Given the description of an element on the screen output the (x, y) to click on. 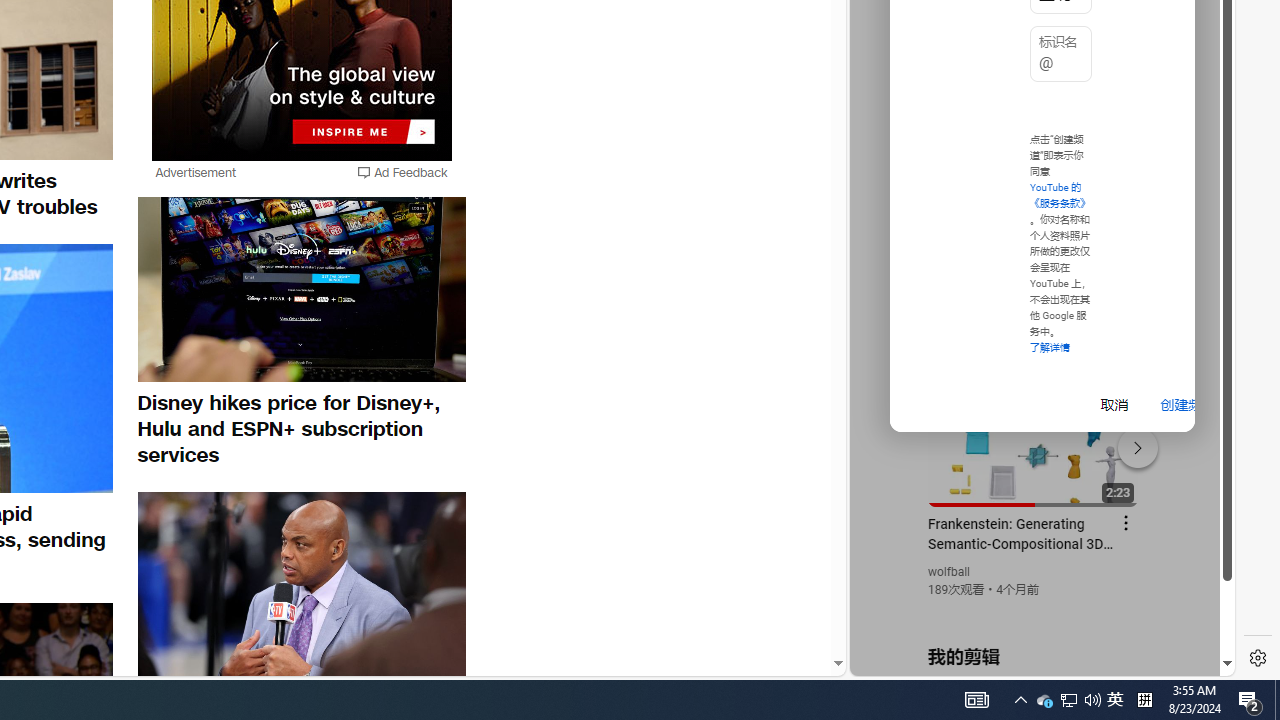
#you (1034, 439)
YouTube (1034, 432)
US[ju] (917, 660)
